Given the description of an element on the screen output the (x, y) to click on. 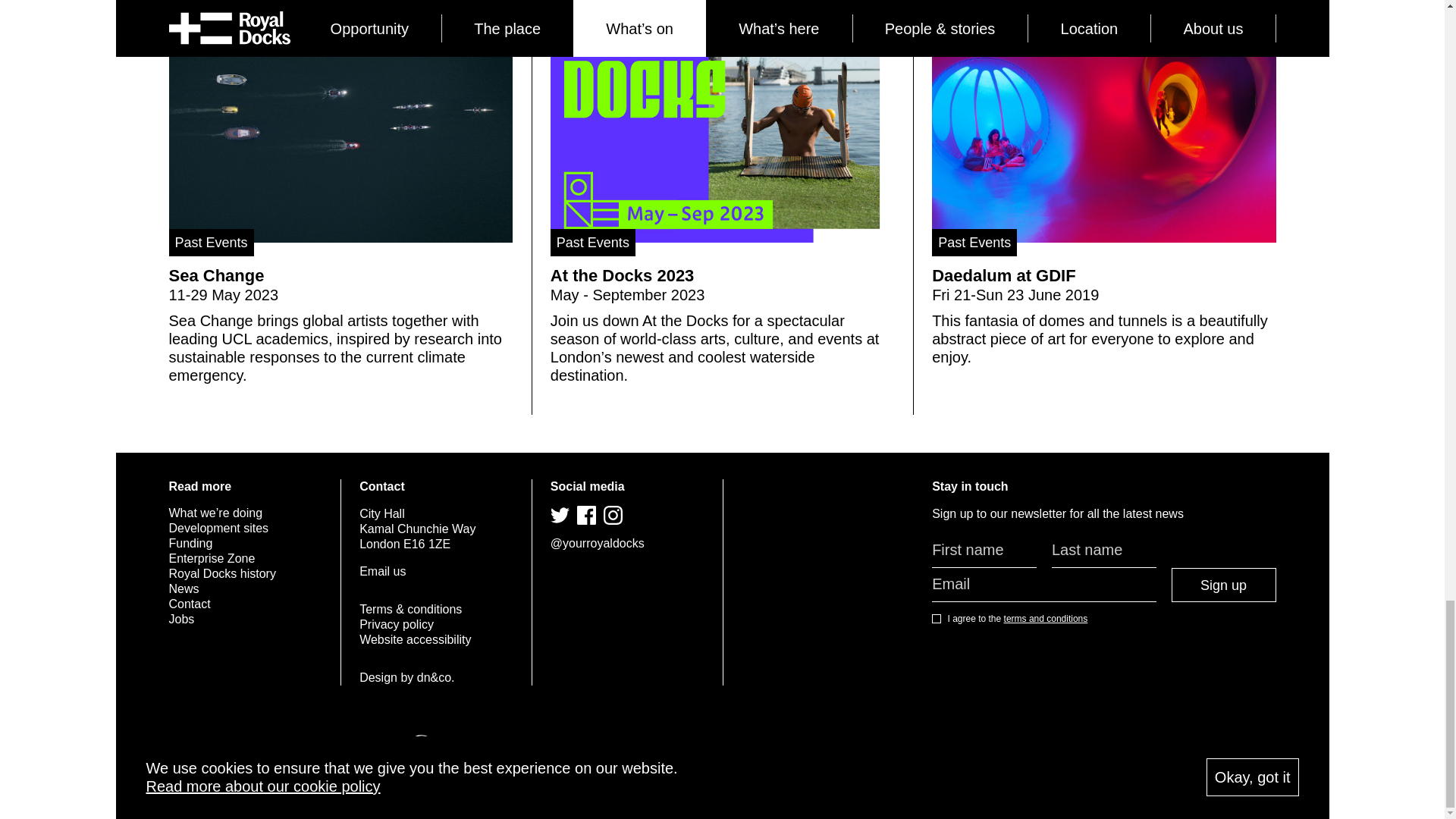
terms and conditions (1045, 618)
Sign up (1224, 584)
